Given the description of an element on the screen output the (x, y) to click on. 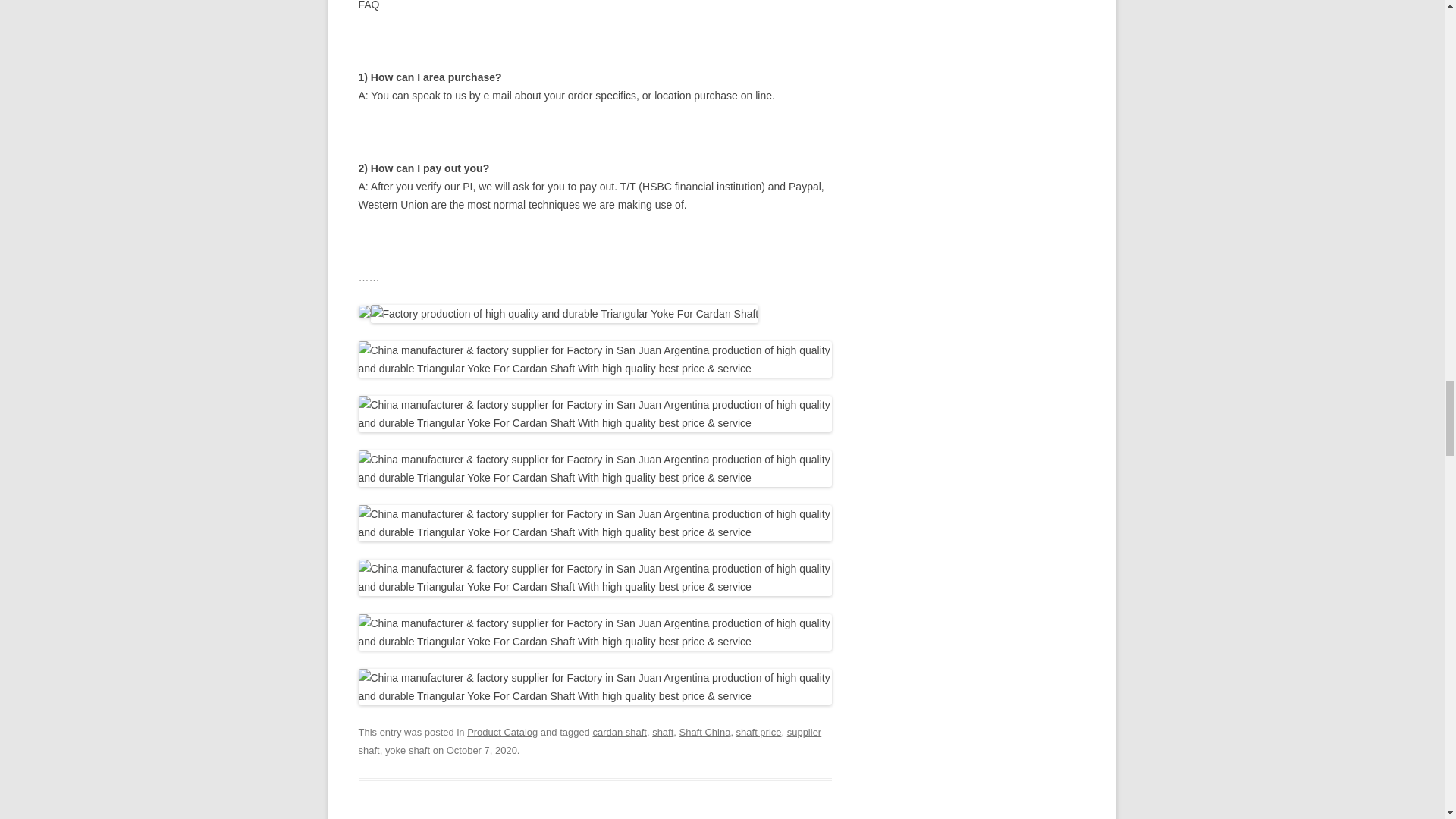
shaft (662, 731)
shaft price (758, 731)
8:58 pm (481, 749)
October 7, 2020 (481, 749)
Product Catalog (502, 731)
Shaft China (704, 731)
cardan shaft (619, 731)
supplier shaft (589, 740)
yoke shaft (407, 749)
